Given the description of an element on the screen output the (x, y) to click on. 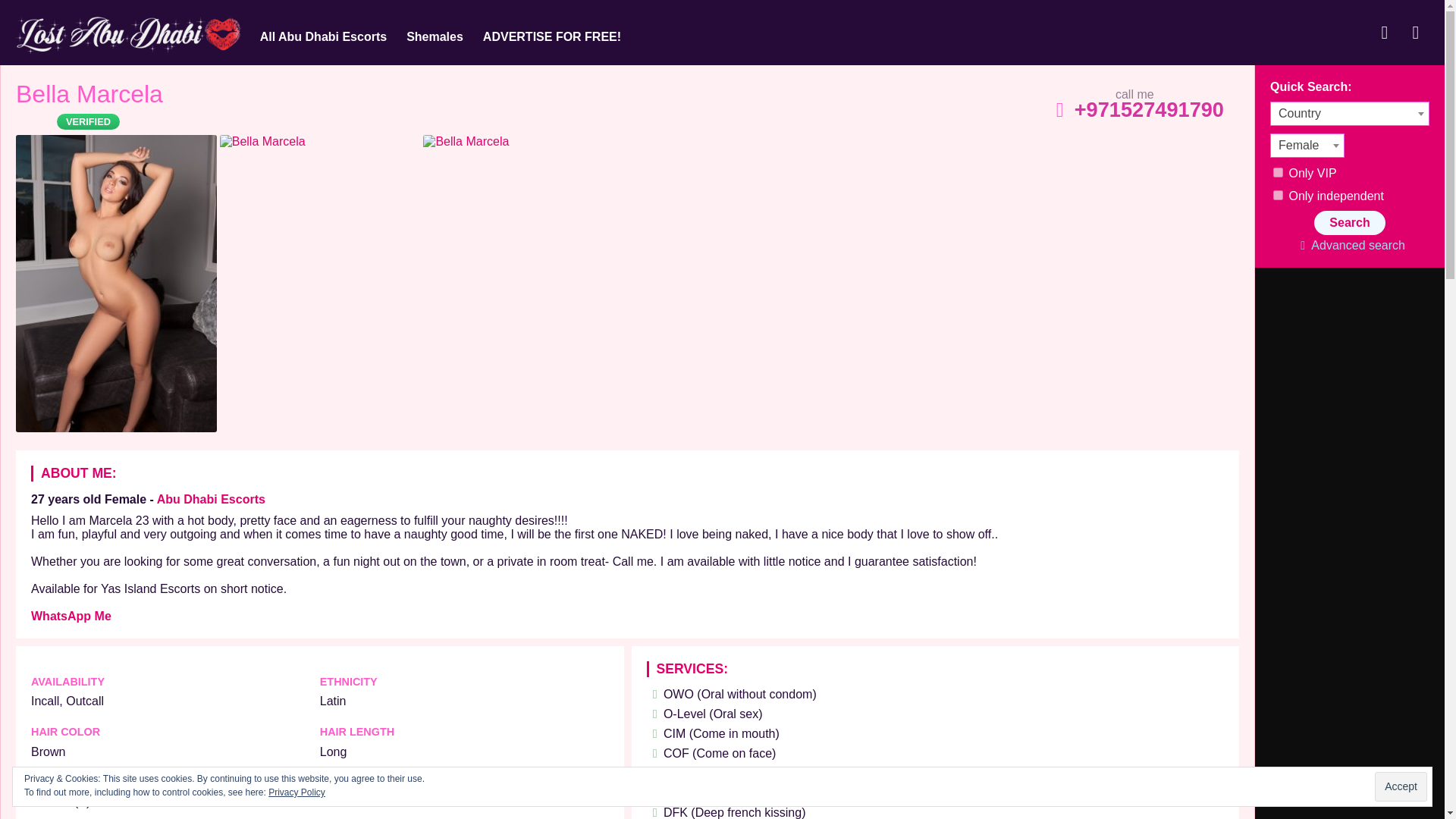
Shemales (434, 36)
ADVERTISE FOR FREE! (551, 36)
Privacy Policy (295, 792)
Search (1349, 222)
Accept (1400, 786)
Accept (1400, 786)
Search (1349, 222)
Abu Dhabi Escorts (210, 499)
Bella Marcela (89, 98)
All Abu Dhabi Escorts (323, 36)
